Given the description of an element on the screen output the (x, y) to click on. 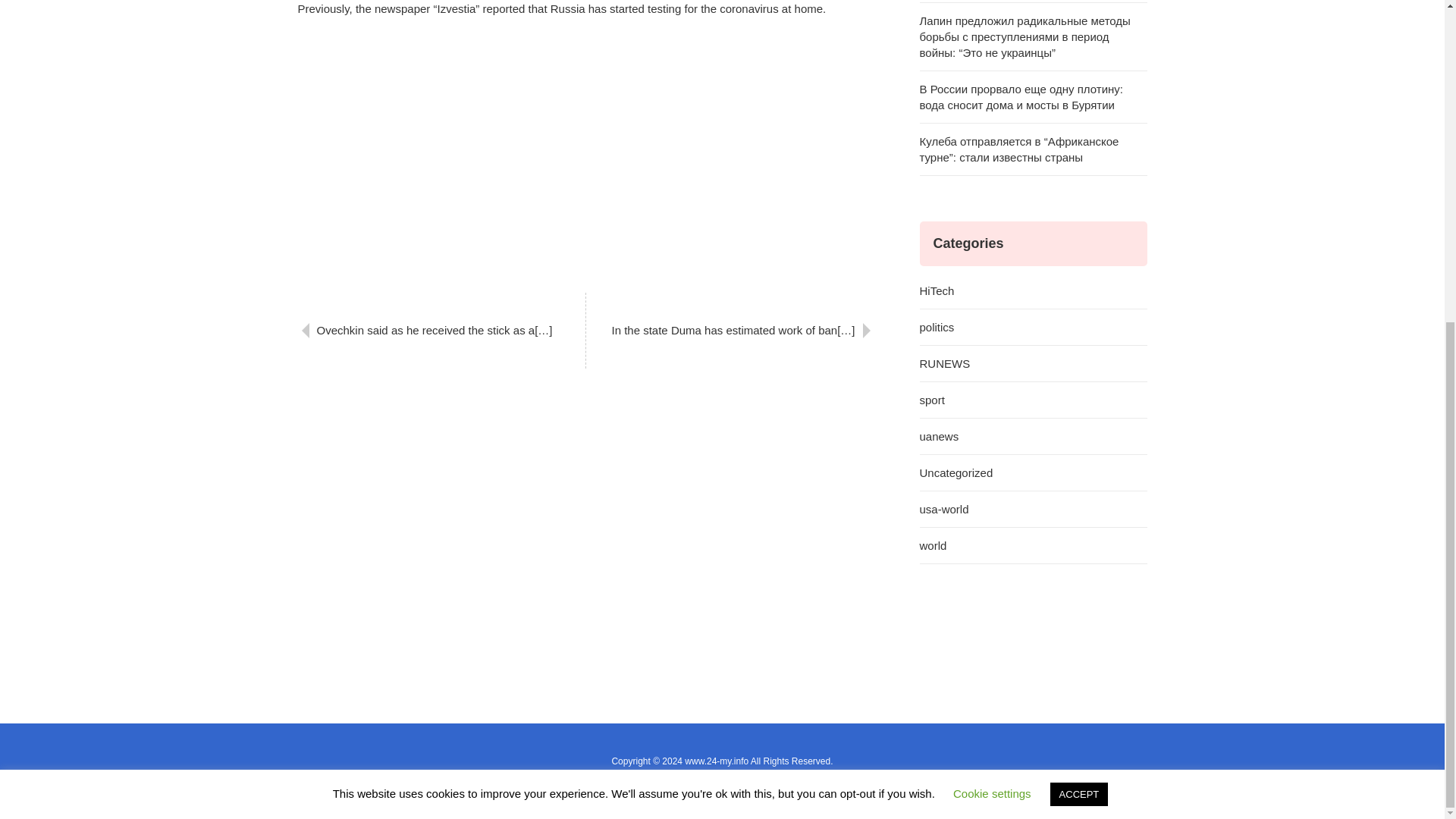
Advertisement (585, 151)
politics (1032, 327)
Uncategorized (1032, 473)
WordPress (675, 777)
sport (1032, 400)
uanews (1032, 436)
usa-world (1032, 509)
world (1032, 545)
Yossy's web service (797, 777)
HiTech (1032, 290)
ACCEPT (1078, 269)
Cookie settings (991, 269)
RUNEWS (1032, 363)
